Given the description of an element on the screen output the (x, y) to click on. 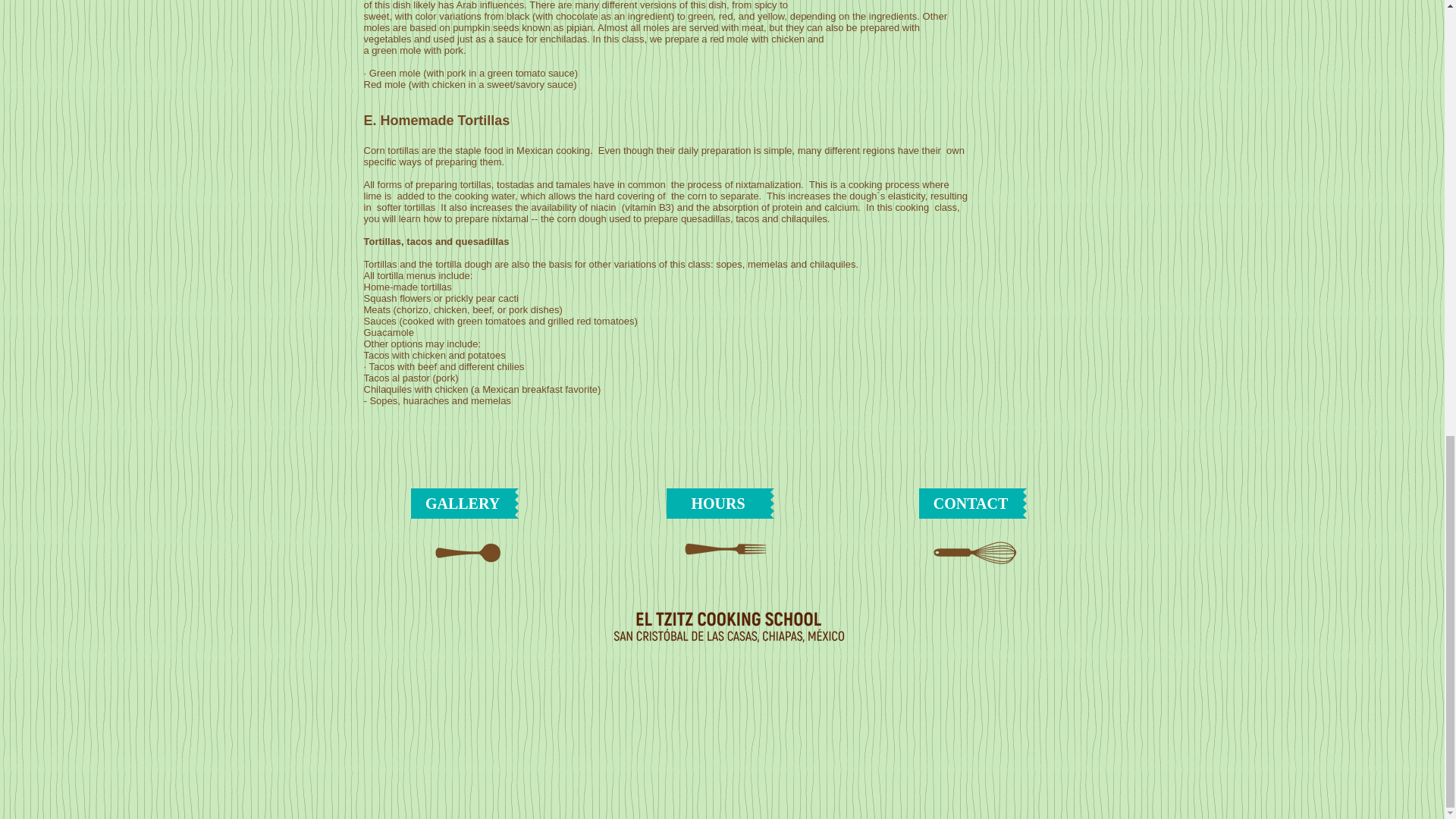
GALLERY (462, 503)
HOURS (717, 503)
CONTACT (970, 503)
